Given the description of an element on the screen output the (x, y) to click on. 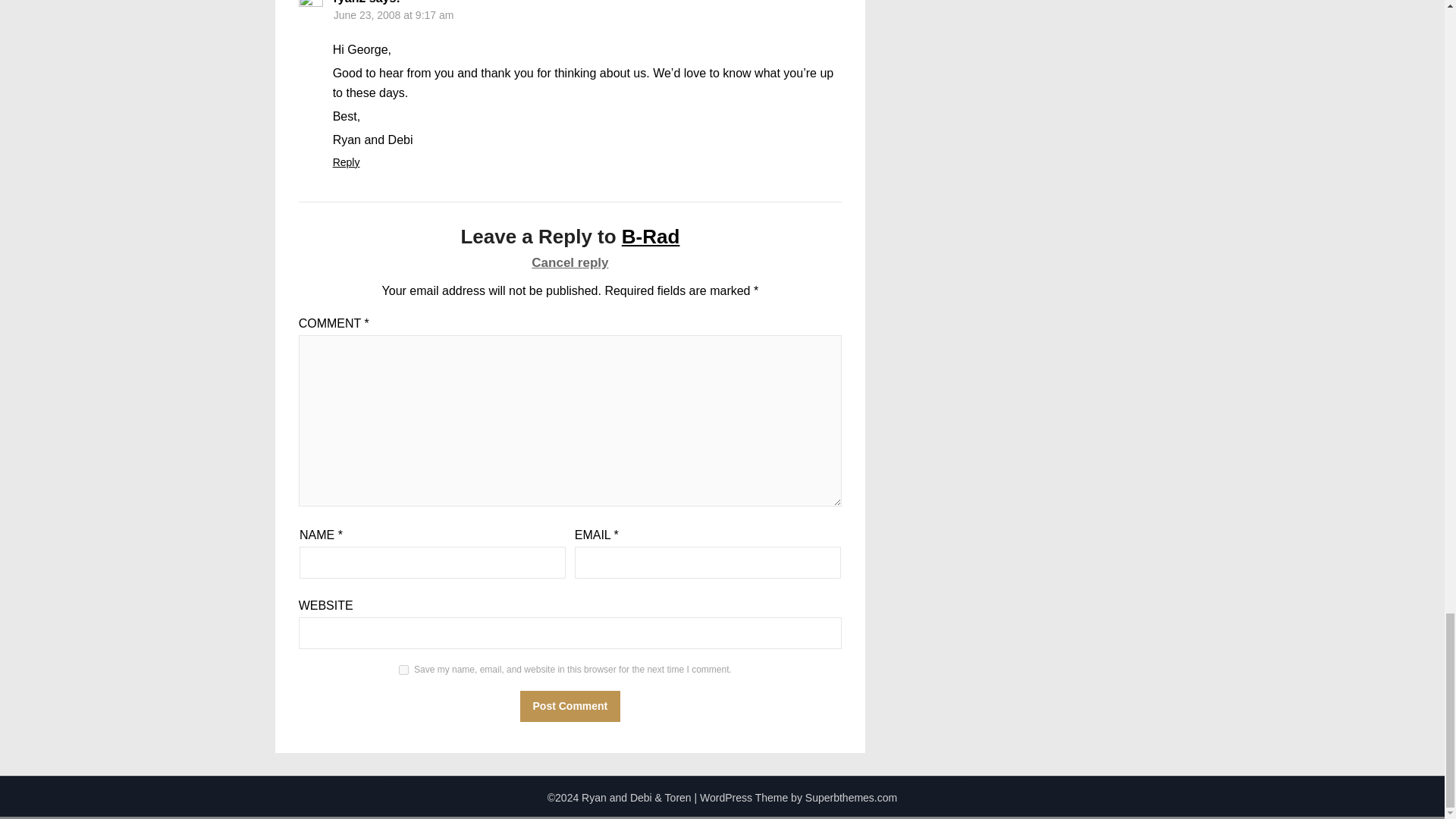
B-Rad (650, 236)
Cancel reply (570, 262)
yes (403, 669)
June 23, 2008 at 9:17 am (393, 15)
Reply (346, 162)
Post Comment (570, 706)
Post Comment (570, 706)
